Given the description of an element on the screen output the (x, y) to click on. 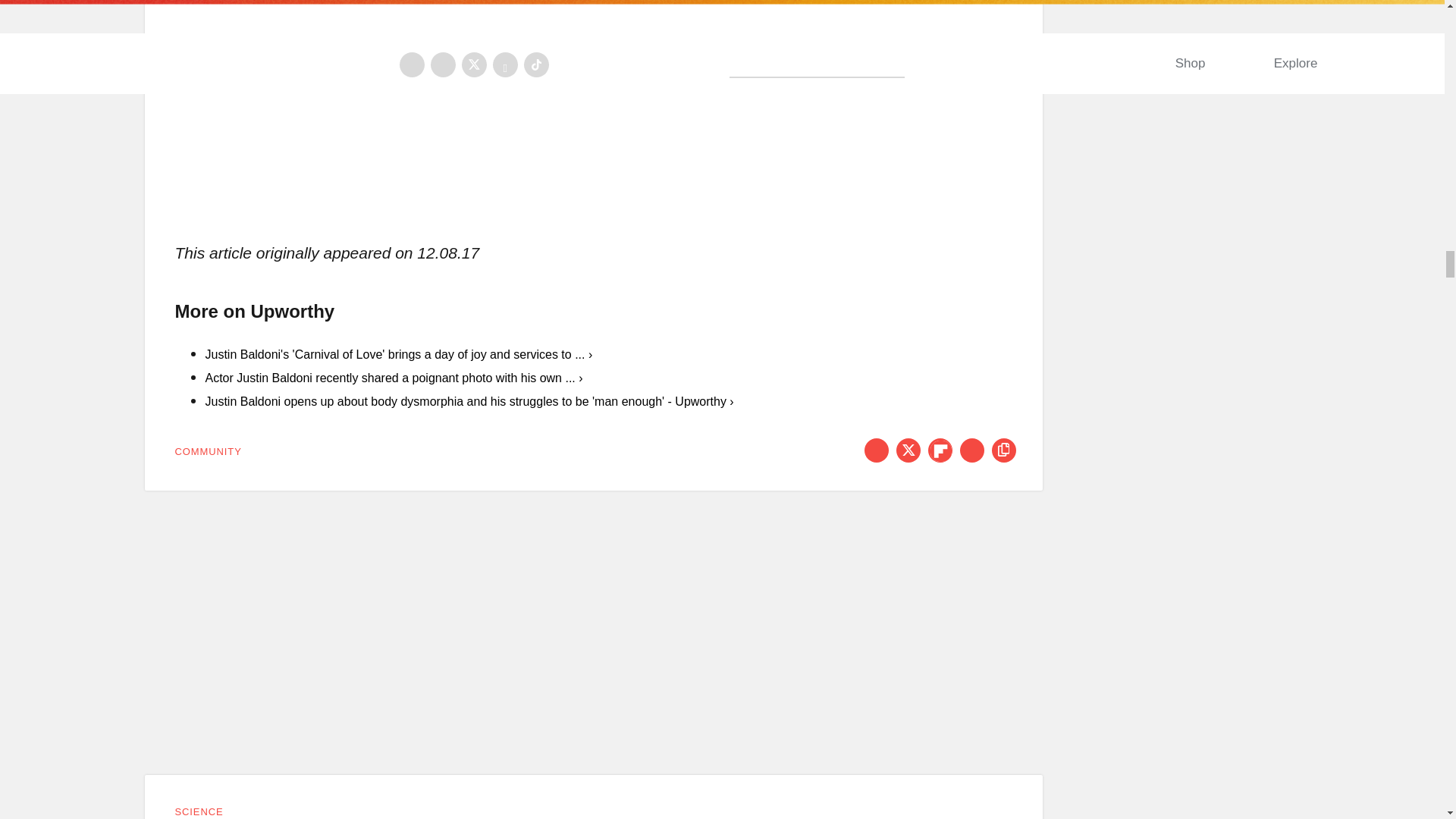
Copy this link to clipboard (1003, 450)
